Given the description of an element on the screen output the (x, y) to click on. 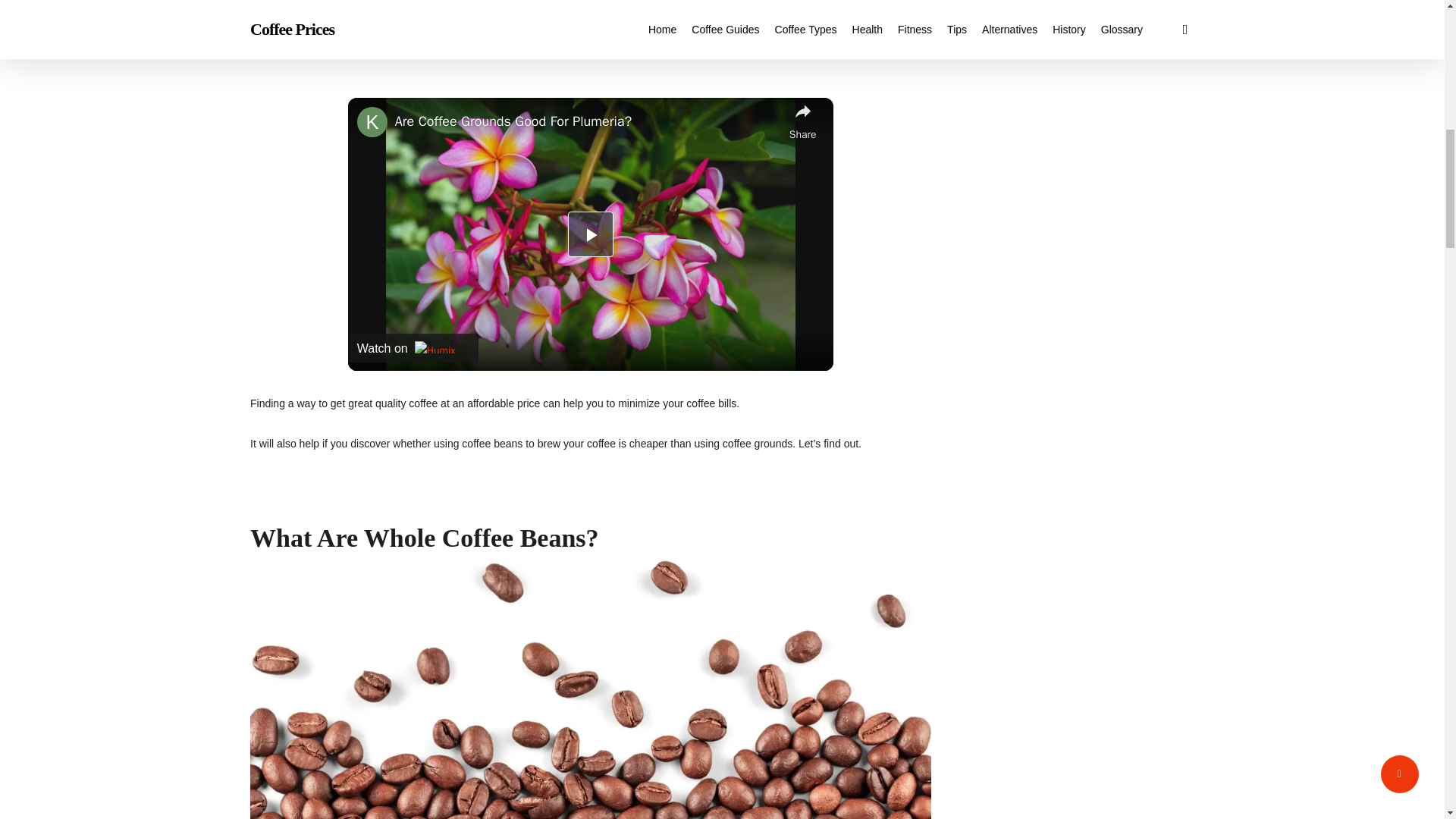
Are Coffee Grounds Good For Plumeria? (587, 121)
Play Video (589, 234)
Play Video (589, 234)
Watch on (413, 347)
